Given the description of an element on the screen output the (x, y) to click on. 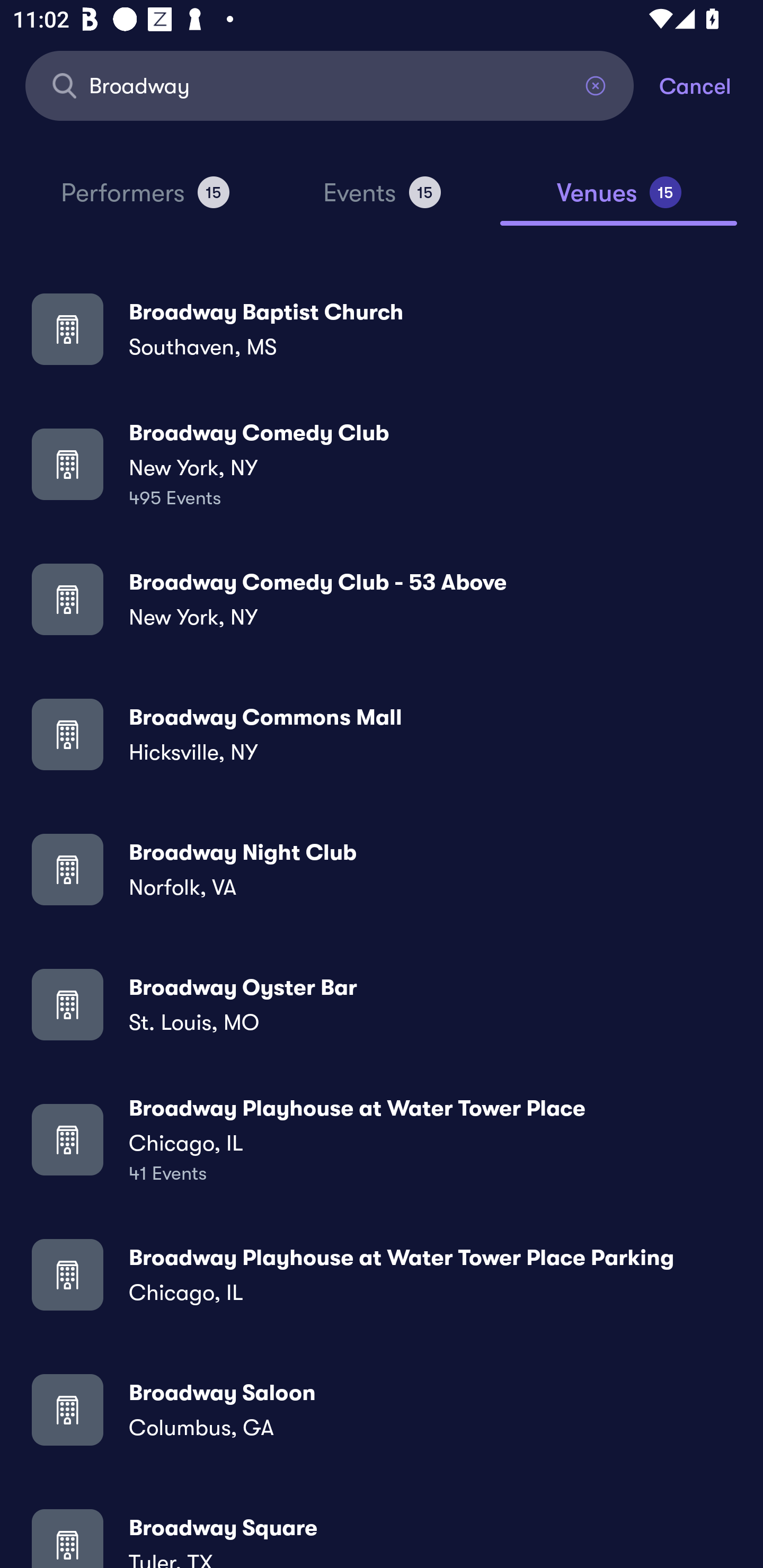
Broadway Find (329, 85)
Broadway Find (329, 85)
Cancel (711, 85)
Performers 15 (144, 200)
Events 15 (381, 200)
Venues 15 (618, 200)
Broadway Baptist Church Southaven, MS (381, 328)
Broadway Comedy Club New York, NY 495 Events (381, 464)
Broadway Comedy Club - 53 Above New York, NY (381, 598)
Broadway Commons Mall Hicksville, NY (381, 734)
Broadway Night Club Norfolk, VA (381, 869)
Broadway Oyster Bar St. Louis, MO (381, 1004)
Broadway Saloon Columbus, GA (381, 1409)
Broadway Square Tyler, TX (381, 1532)
